Given the description of an element on the screen output the (x, y) to click on. 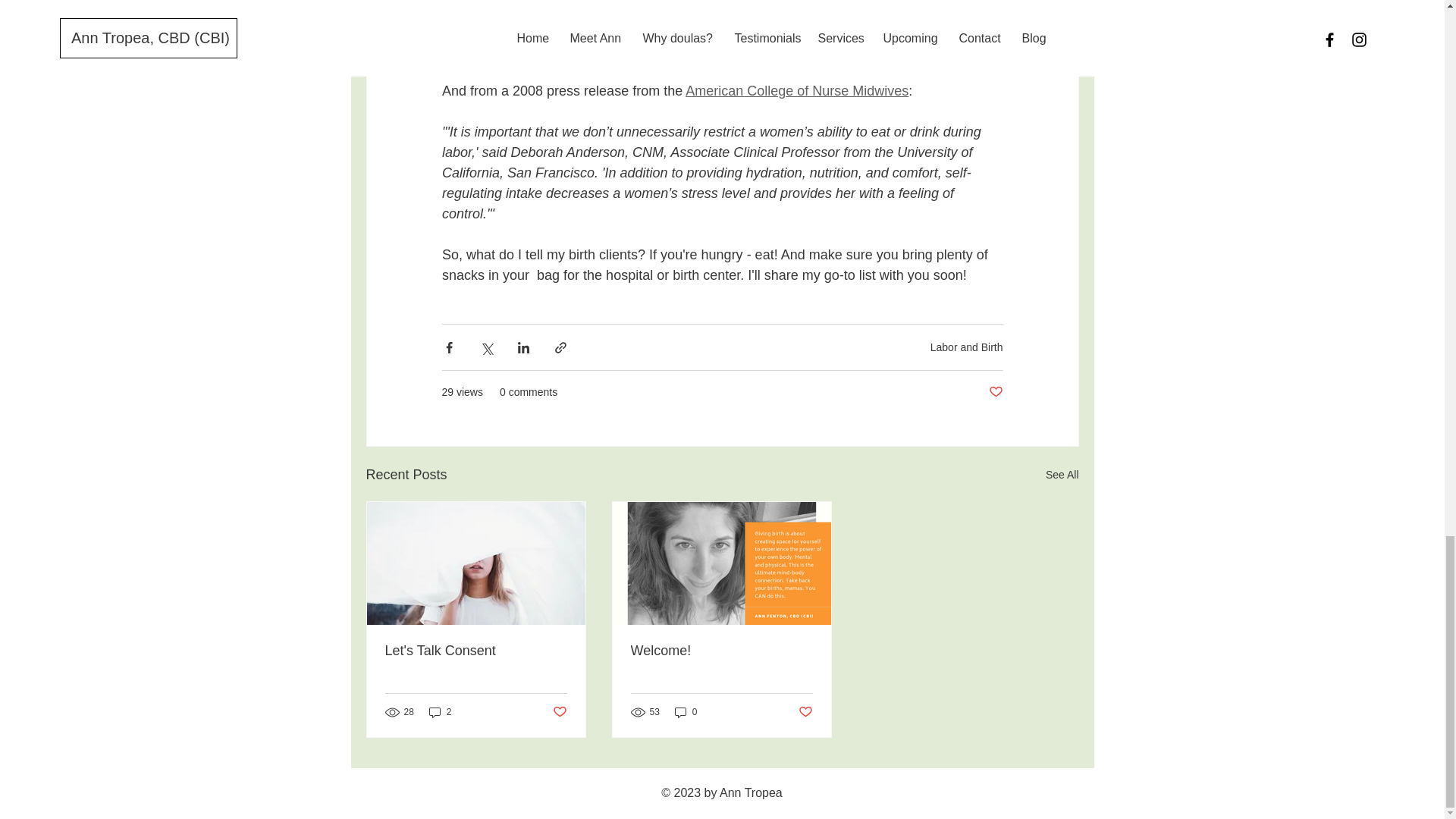
Welcome! (721, 650)
See All (1061, 475)
American College of Nurse Midwives (796, 90)
Post not marked as liked (995, 392)
Post not marked as liked (558, 712)
2 (440, 712)
Let's Talk Consent (476, 650)
Labor and Birth (966, 346)
